Given the description of an element on the screen output the (x, y) to click on. 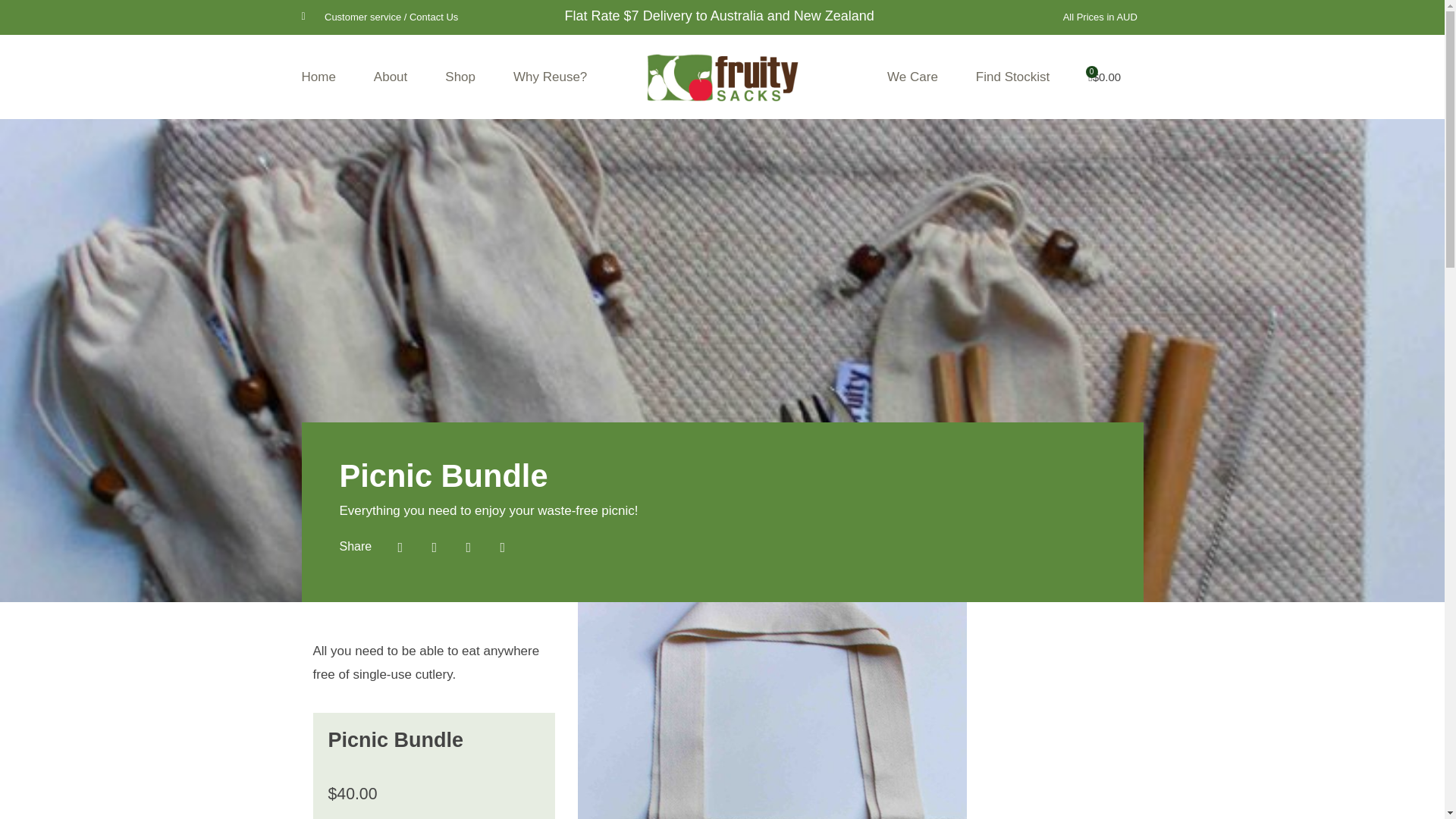
Shop (460, 77)
All Prices in AUD (1099, 16)
We Care (911, 77)
Home (317, 77)
About (390, 77)
Why Reuse? (550, 77)
Find Stockist (1012, 77)
